Given the description of an element on the screen output the (x, y) to click on. 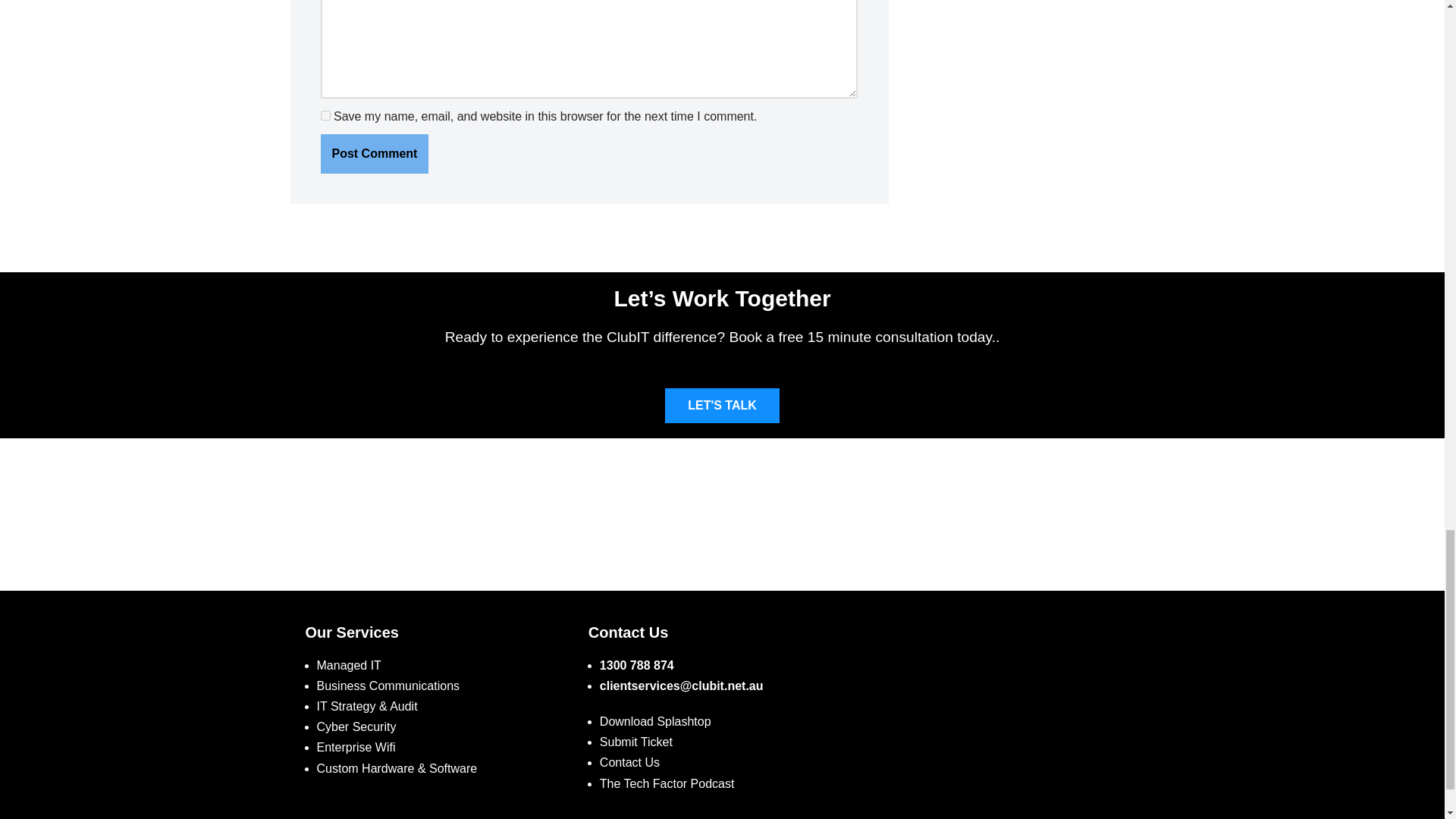
yes (325, 115)
ClubIT (1005, 711)
Post Comment (374, 153)
